Given the description of an element on the screen output the (x, y) to click on. 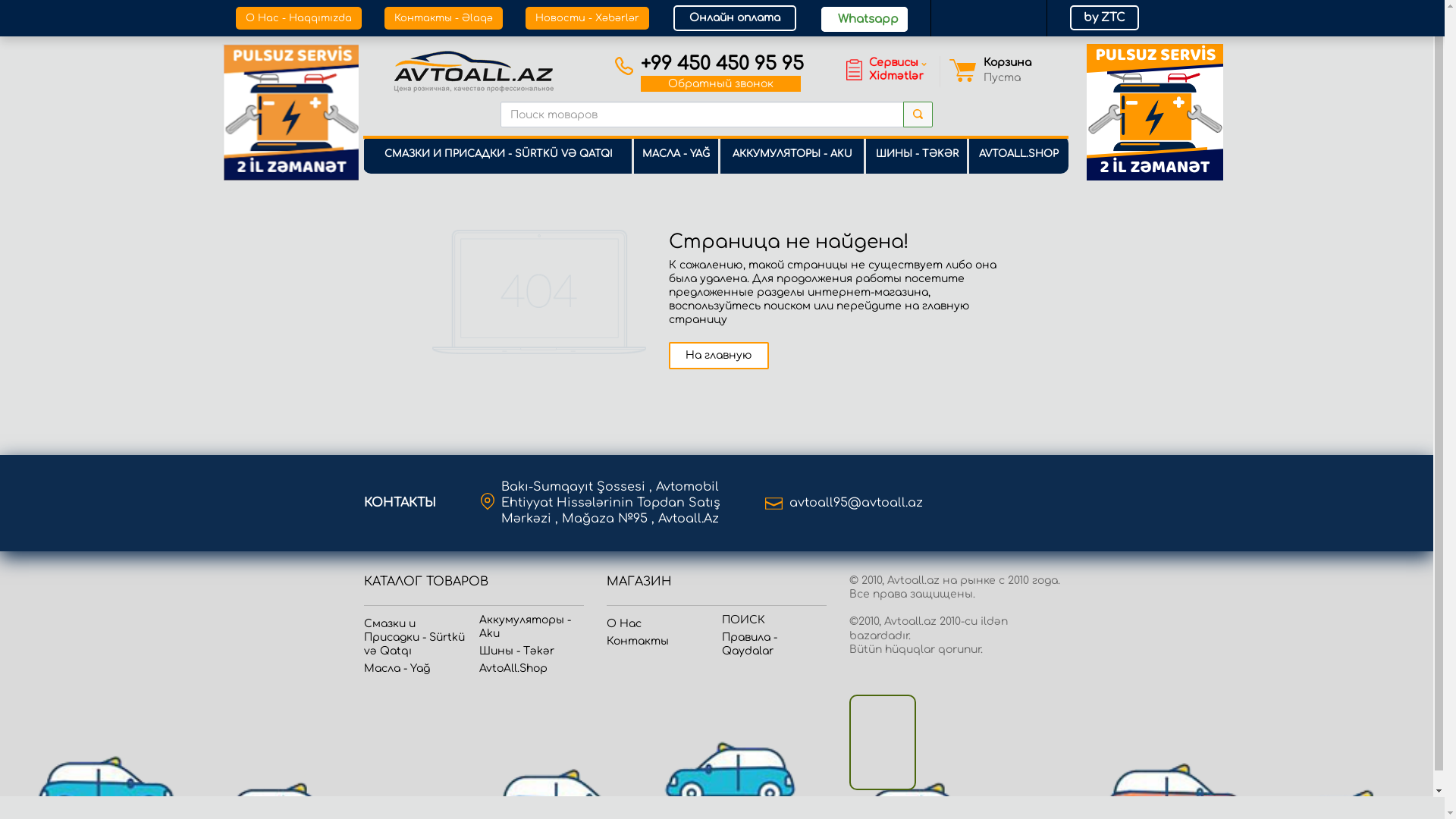
AvtoAll.Shop Element type: text (513, 668)
Whatsapp Element type: text (863, 18)
AVTOALL.SHOP Element type: text (1018, 161)
+99 450 450 95 95 Element type: text (721, 63)
by ZTC Element type: text (1103, 17)
